Given the description of an element on the screen output the (x, y) to click on. 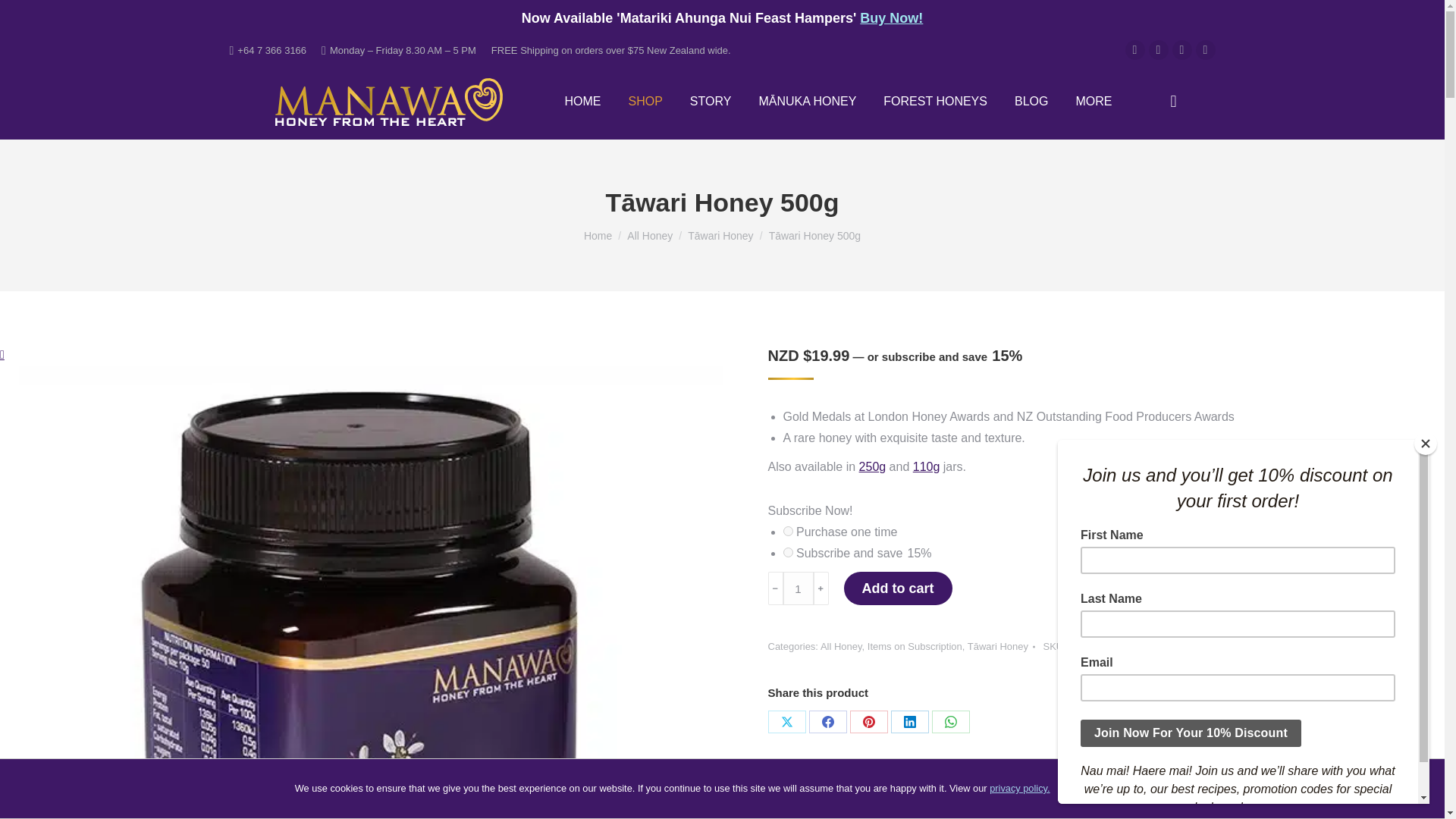
1 (797, 588)
Instagram page opens in new window (1157, 49)
All Honey (649, 235)
no (787, 531)
Facebook page opens in new window (1134, 49)
Home (597, 235)
YouTube page opens in new window (1182, 49)
privacy policy. (1019, 787)
YouTube page opens in new window (1182, 49)
Pinterest page opens in new window (1204, 49)
ACCEPT (1094, 788)
STORY (711, 101)
yes (787, 552)
Instagram page opens in new window (1157, 49)
Pinterest page opens in new window (1204, 49)
